Given the description of an element on the screen output the (x, y) to click on. 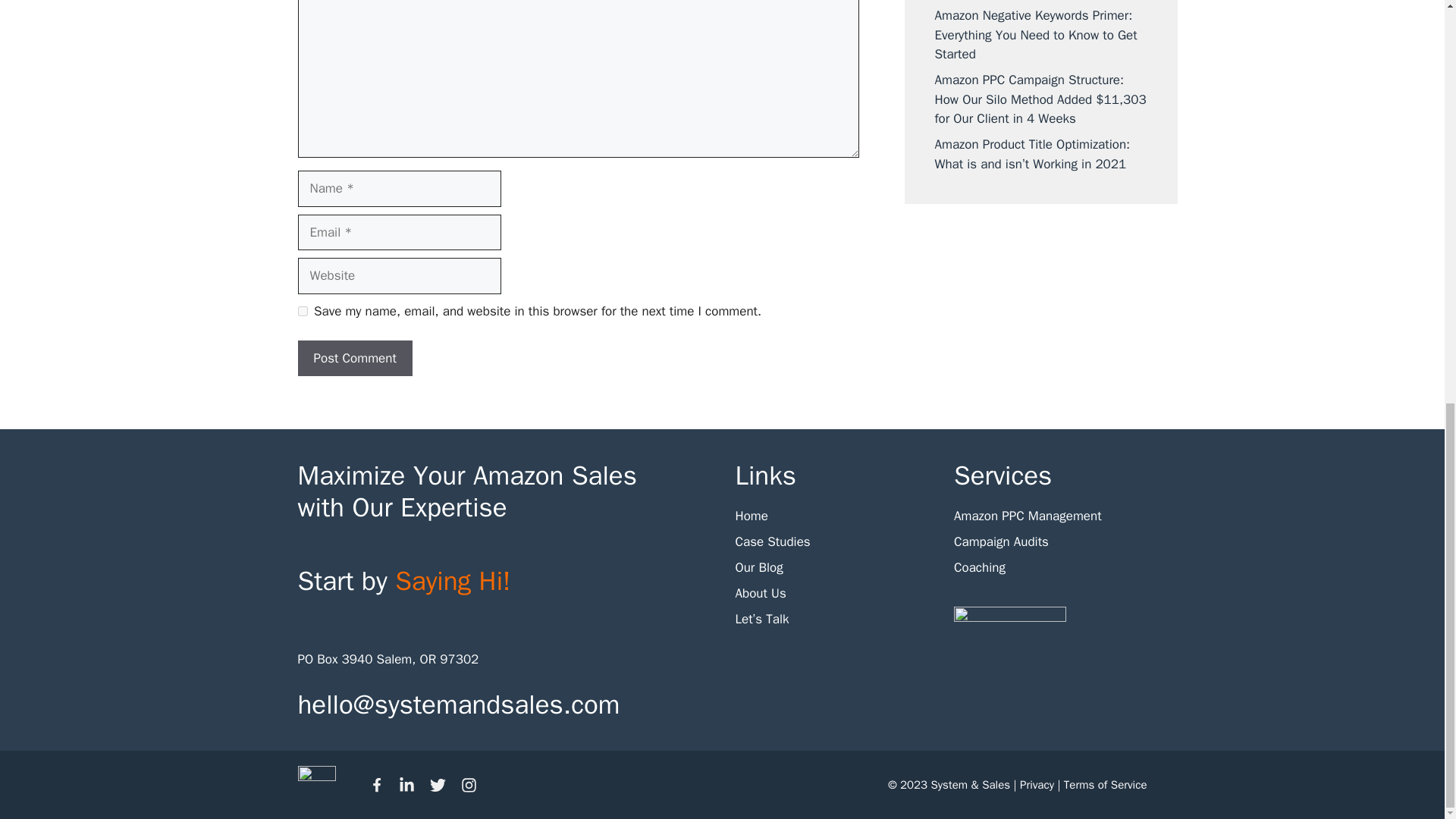
Saying Hi! (452, 580)
Post Comment (354, 358)
Post Comment (354, 358)
yes (302, 311)
Home (751, 515)
Scroll back to top (1406, 744)
